Given the description of an element on the screen output the (x, y) to click on. 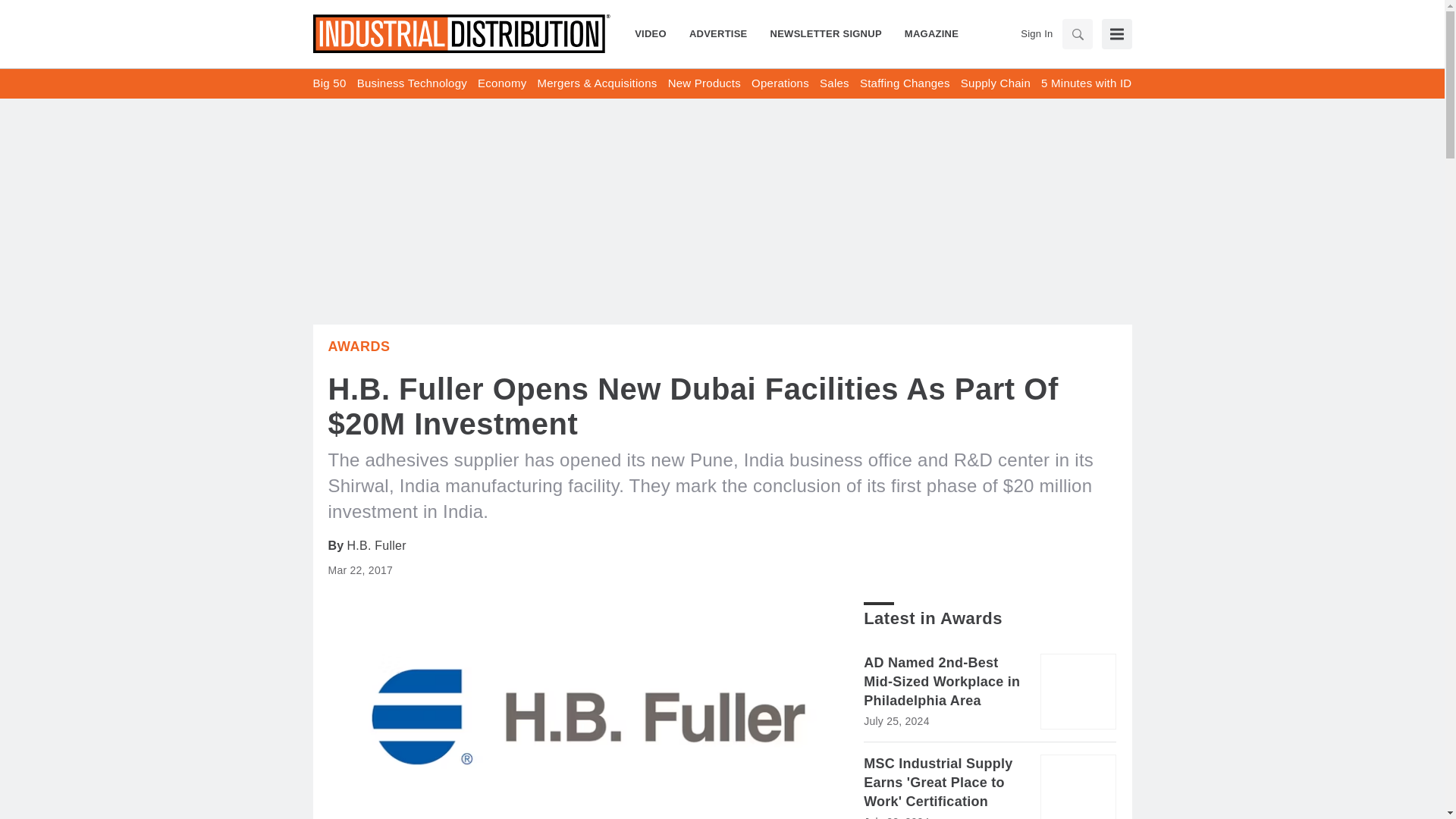
Sign In (1036, 33)
NEWSLETTER SIGNUP (825, 33)
5 Minutes with ID (1086, 83)
VIDEO (656, 33)
Supply Chain (995, 83)
Business Technology (411, 83)
Operations (780, 83)
New Products (704, 83)
Staffing Changes (905, 83)
Big 50 (329, 83)
